Given the description of an element on the screen output the (x, y) to click on. 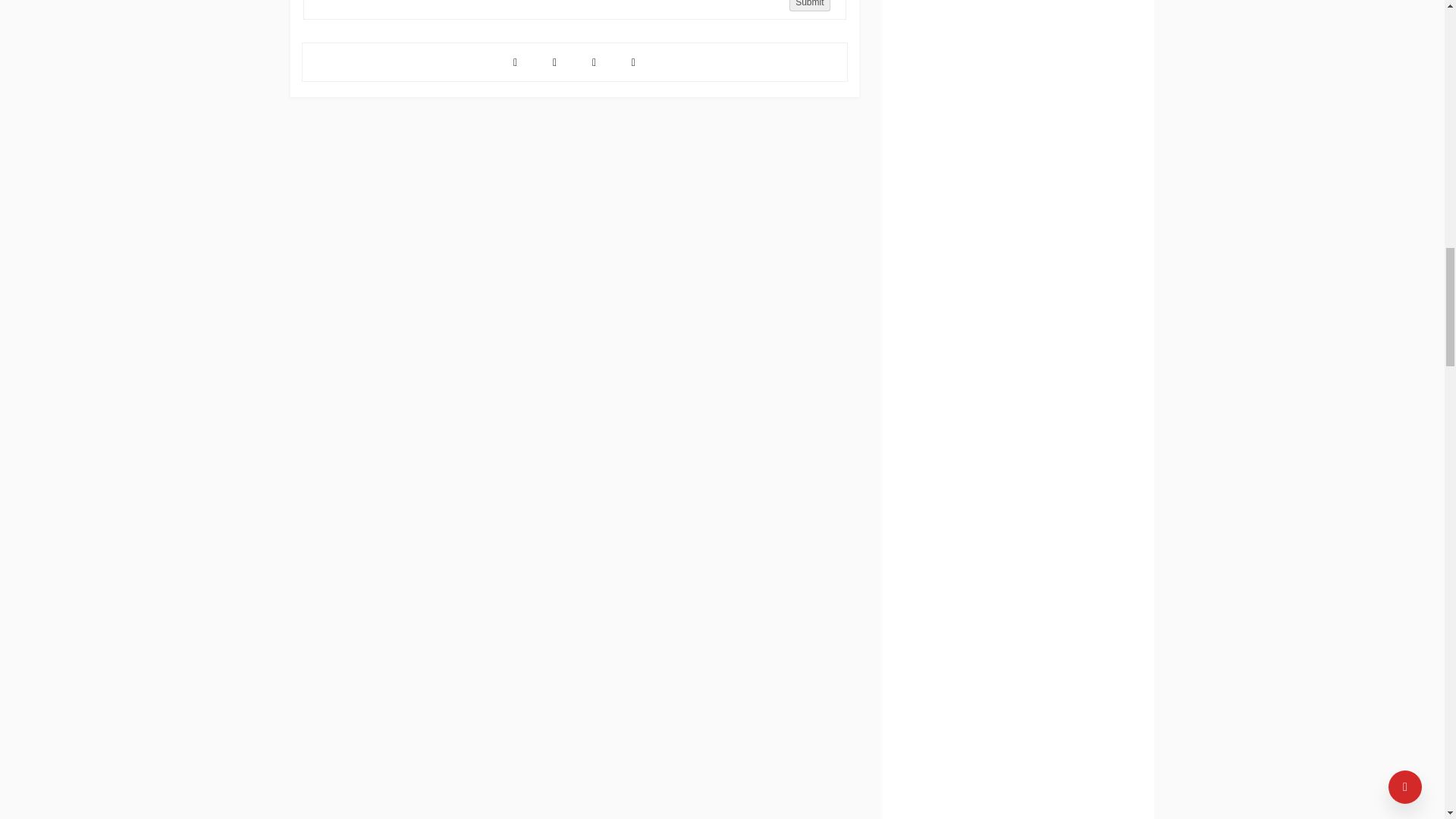
Submit (809, 5)
